Given the description of an element on the screen output the (x, y) to click on. 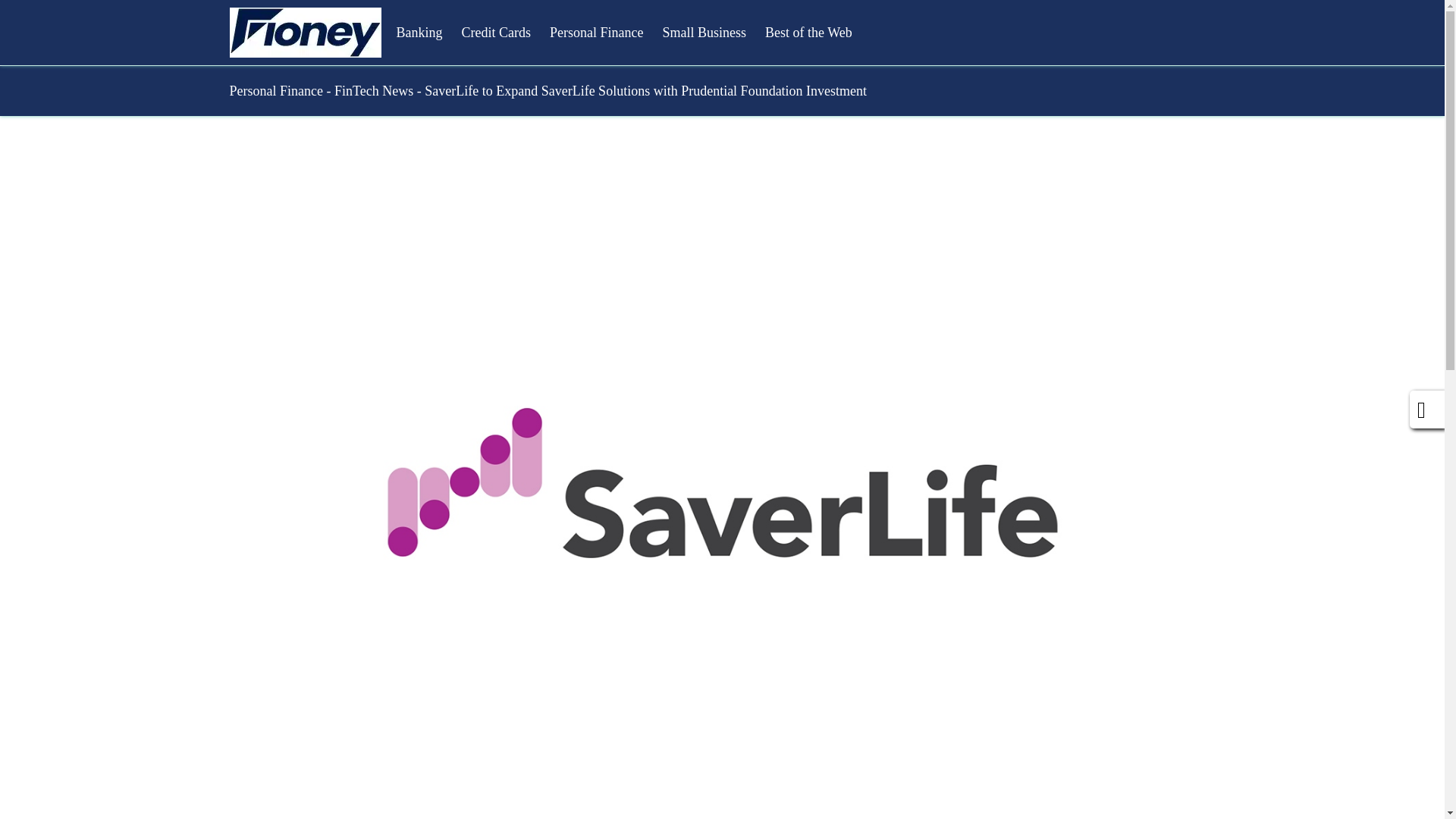
Personal Finance (274, 90)
Credit Cards (496, 32)
Banking (419, 32)
Best of the Web (808, 32)
Small Business (703, 32)
Personal Finance (596, 32)
FinTech News (373, 90)
Navigate to the home page (304, 32)
